Given the description of an element on the screen output the (x, y) to click on. 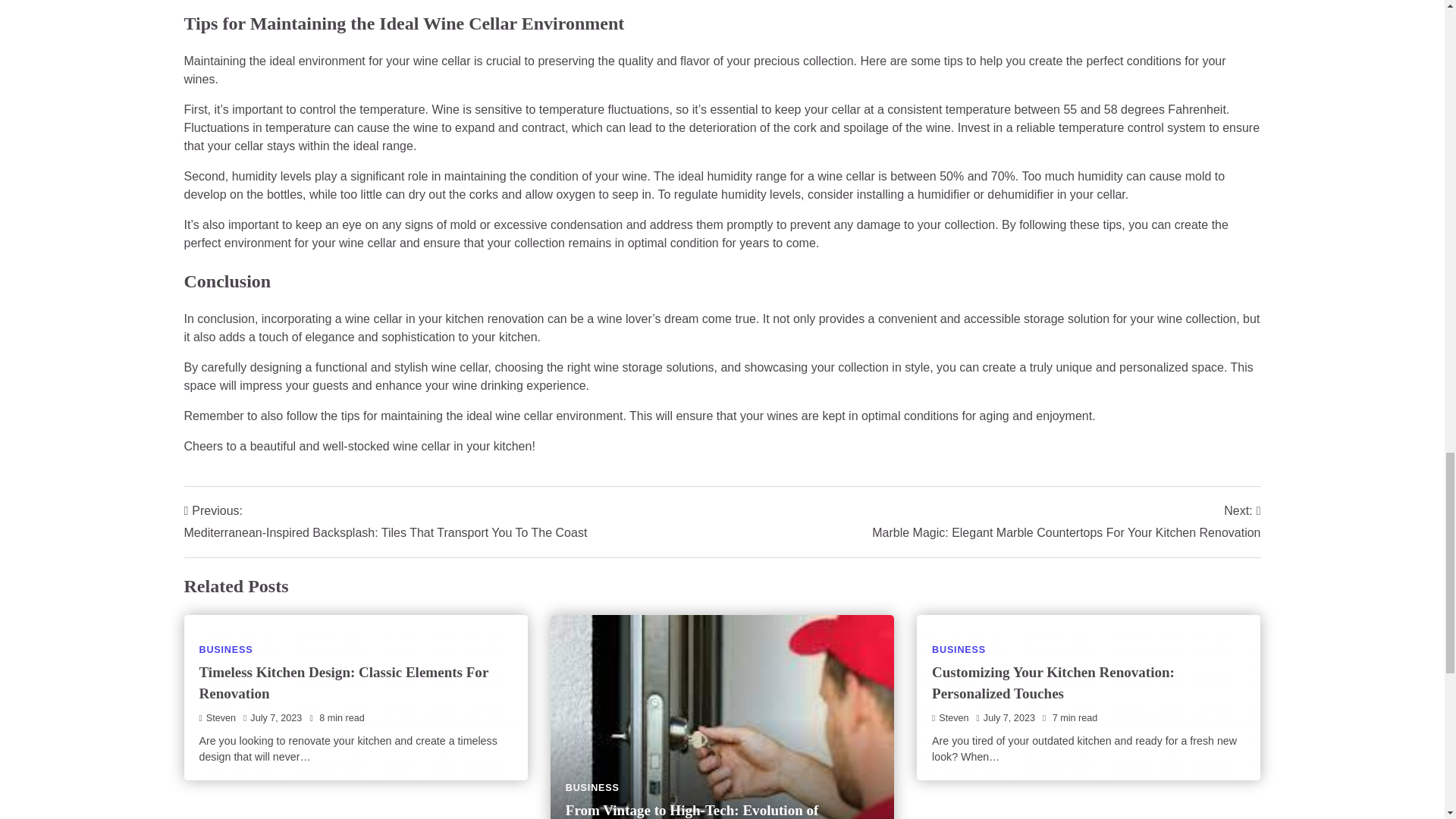
BUSINESS (593, 787)
Timeless Kitchen Design: Classic Elements For Renovation (342, 682)
Steven (216, 717)
From Vintage to High-Tech: Evolution of Locksmith Services (692, 810)
BUSINESS (958, 649)
Steven (950, 717)
Customizing Your Kitchen Renovation: Personalized Touches (1052, 682)
BUSINESS (224, 649)
